Given the description of an element on the screen output the (x, y) to click on. 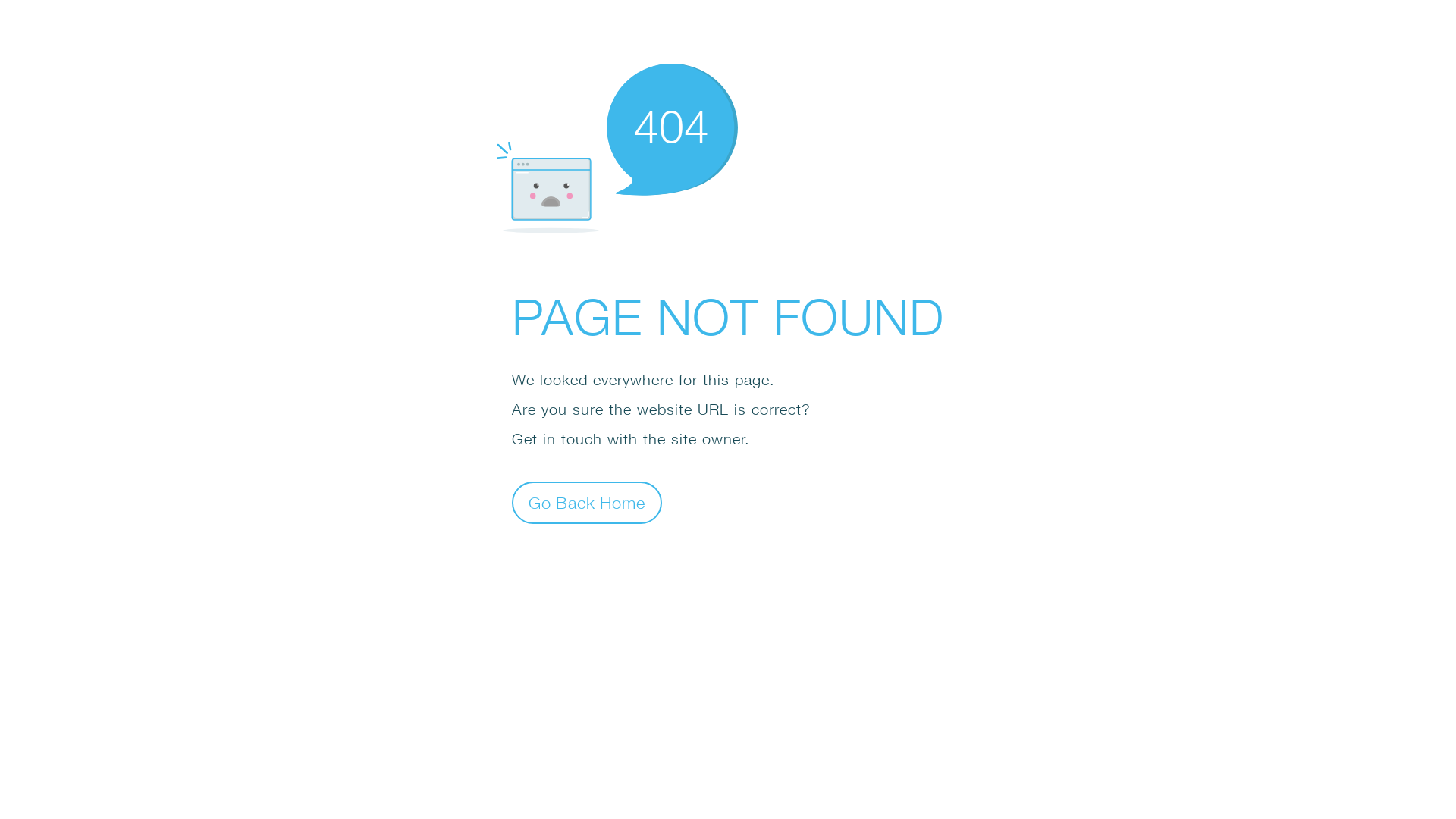
Go Back Home Element type: text (586, 502)
